Given the description of an element on the screen output the (x, y) to click on. 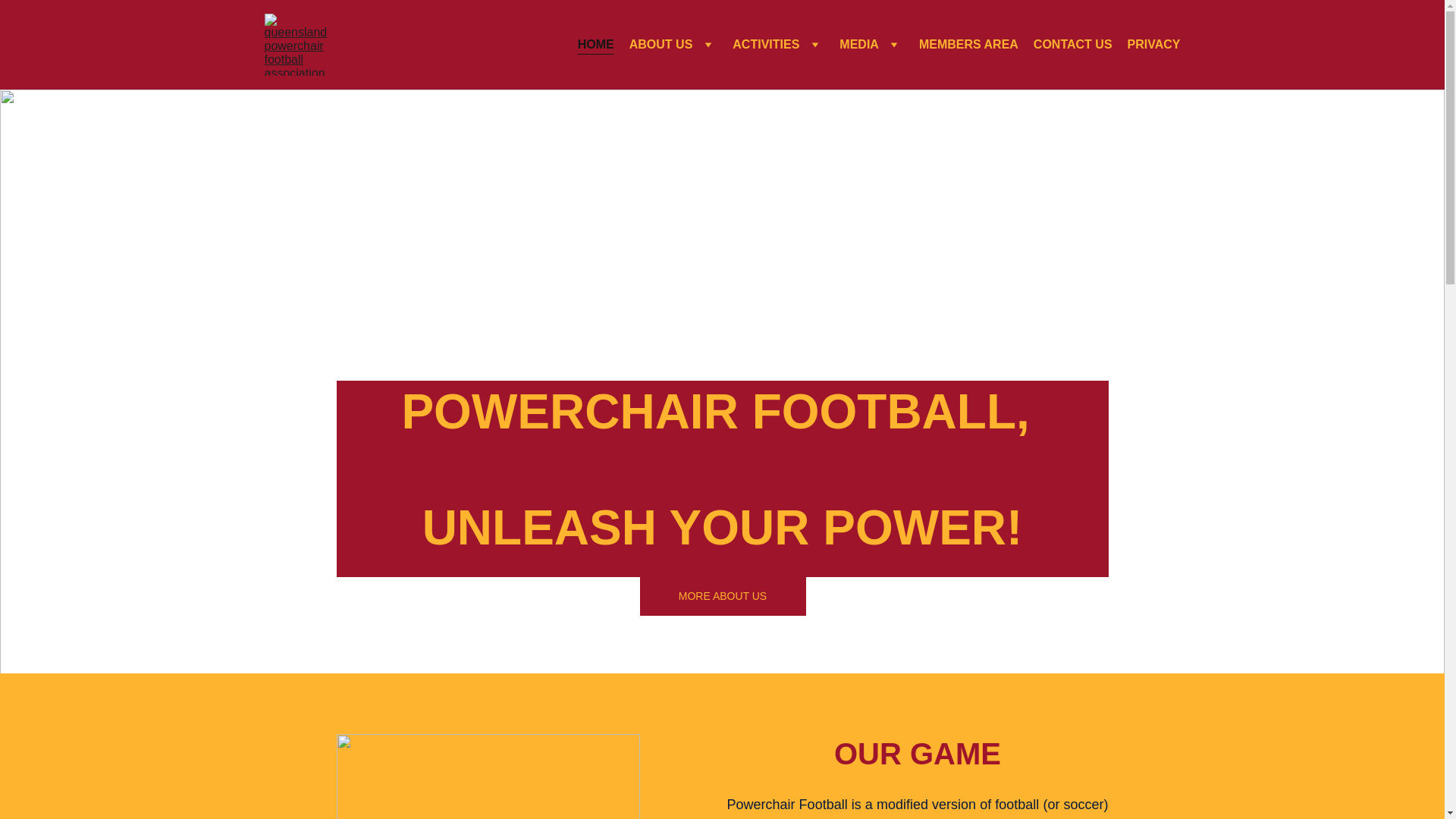
MEMBERS AREA Element type: text (968, 45)
PRIVACY Element type: text (1153, 45)
CONTACT US Element type: text (1072, 45)
HOME Element type: text (595, 45)
MORE ABOUT US Element type: text (723, 596)
